Given the description of an element on the screen output the (x, y) to click on. 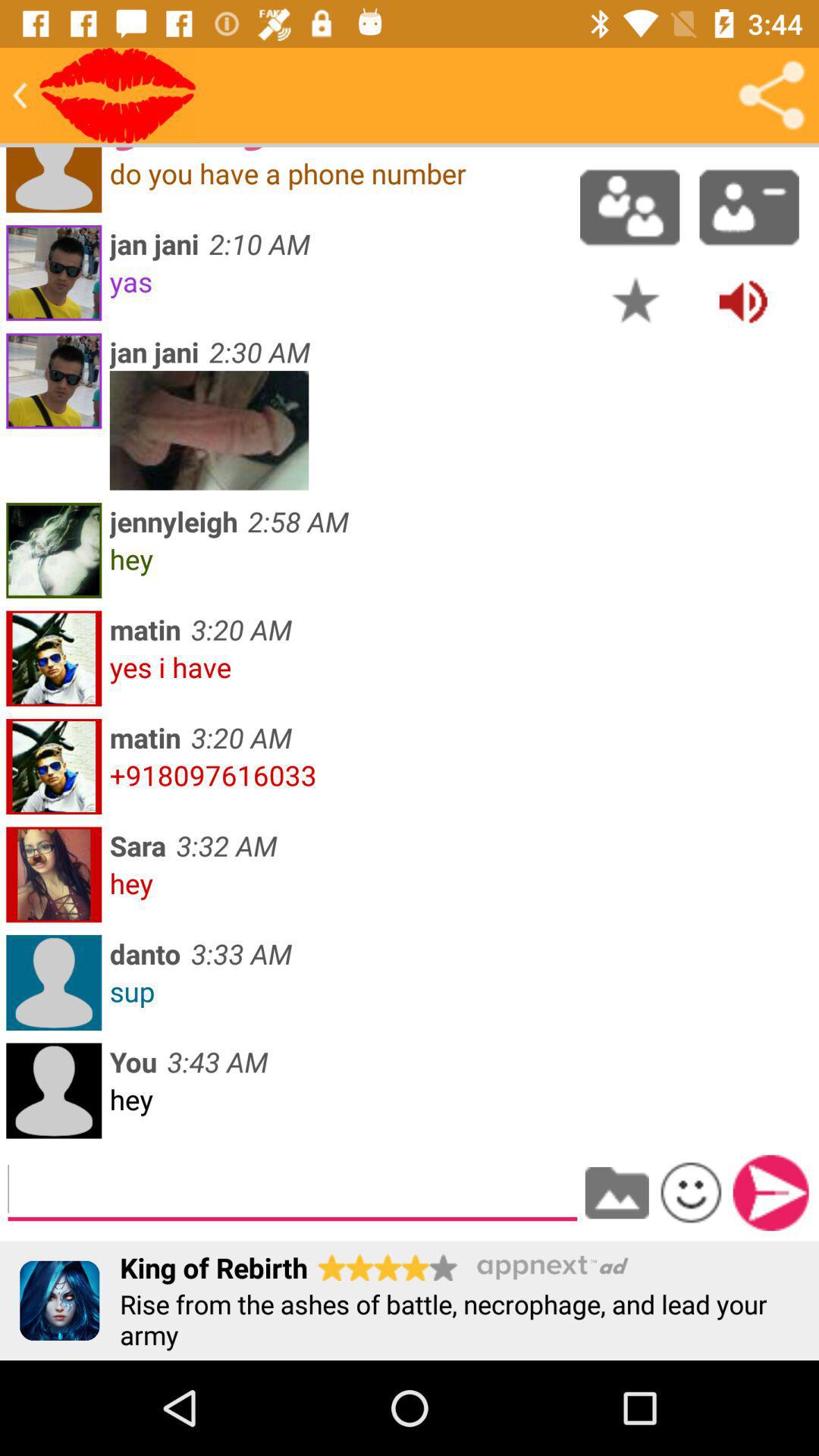
send message (770, 1192)
